Given the description of an element on the screen output the (x, y) to click on. 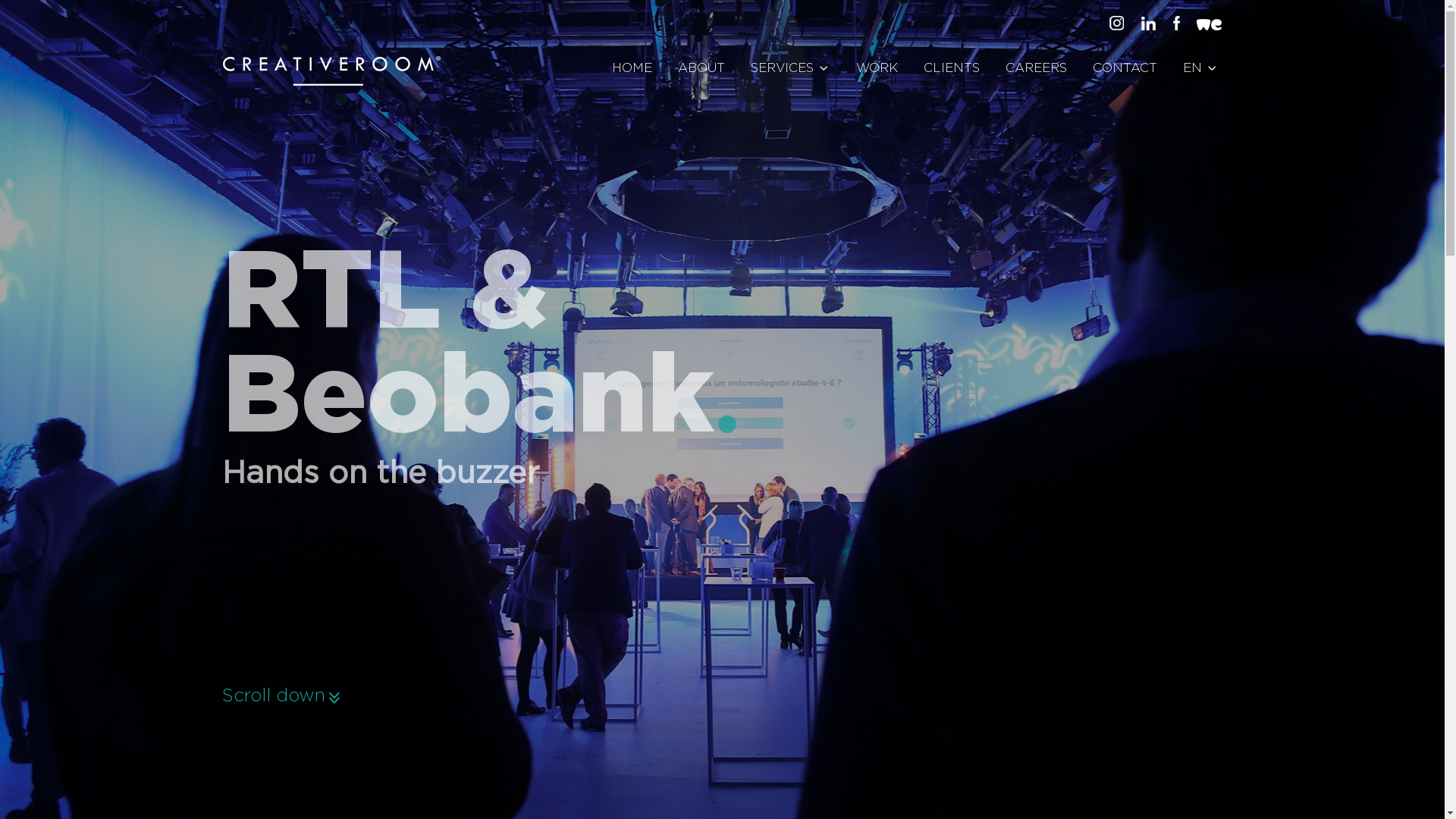
SERVICES Element type: text (790, 67)
CONTACT Element type: text (1124, 68)
CAREERS Element type: text (1035, 68)
EN Element type: text (1200, 67)
WORK Element type: text (876, 68)
HOME Element type: text (631, 68)
CLIENTS Element type: text (951, 68)
ABOUT Element type: text (701, 68)
